Given the description of an element on the screen output the (x, y) to click on. 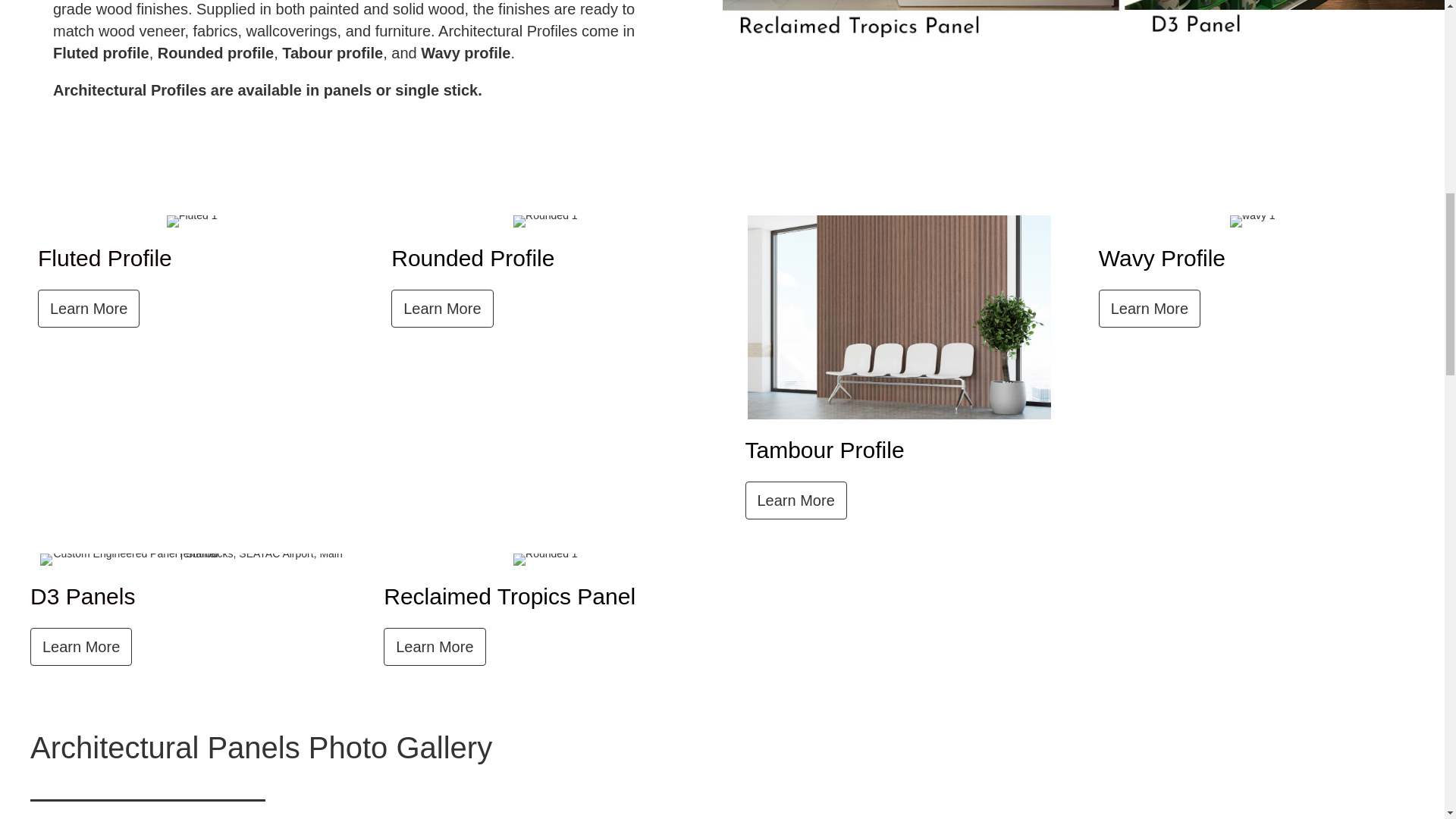
Rounded 1 (545, 559)
wavy 1 (1252, 221)
Rounded 1 (545, 221)
tambour 1 (899, 317)
Fluted 1 (191, 221)
